Given the description of an element on the screen output the (x, y) to click on. 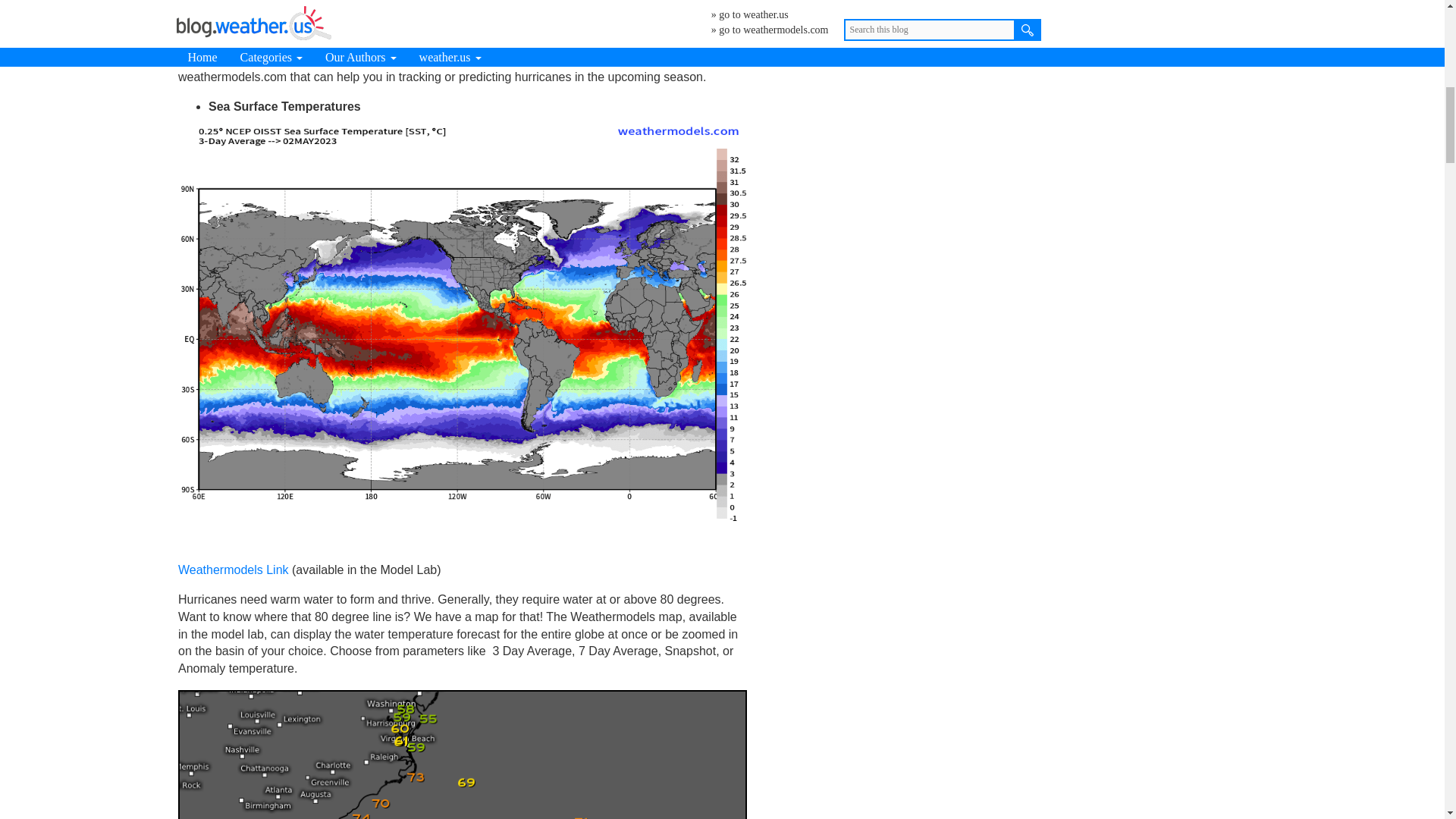
Weathermodels Link (232, 569)
